Given the description of an element on the screen output the (x, y) to click on. 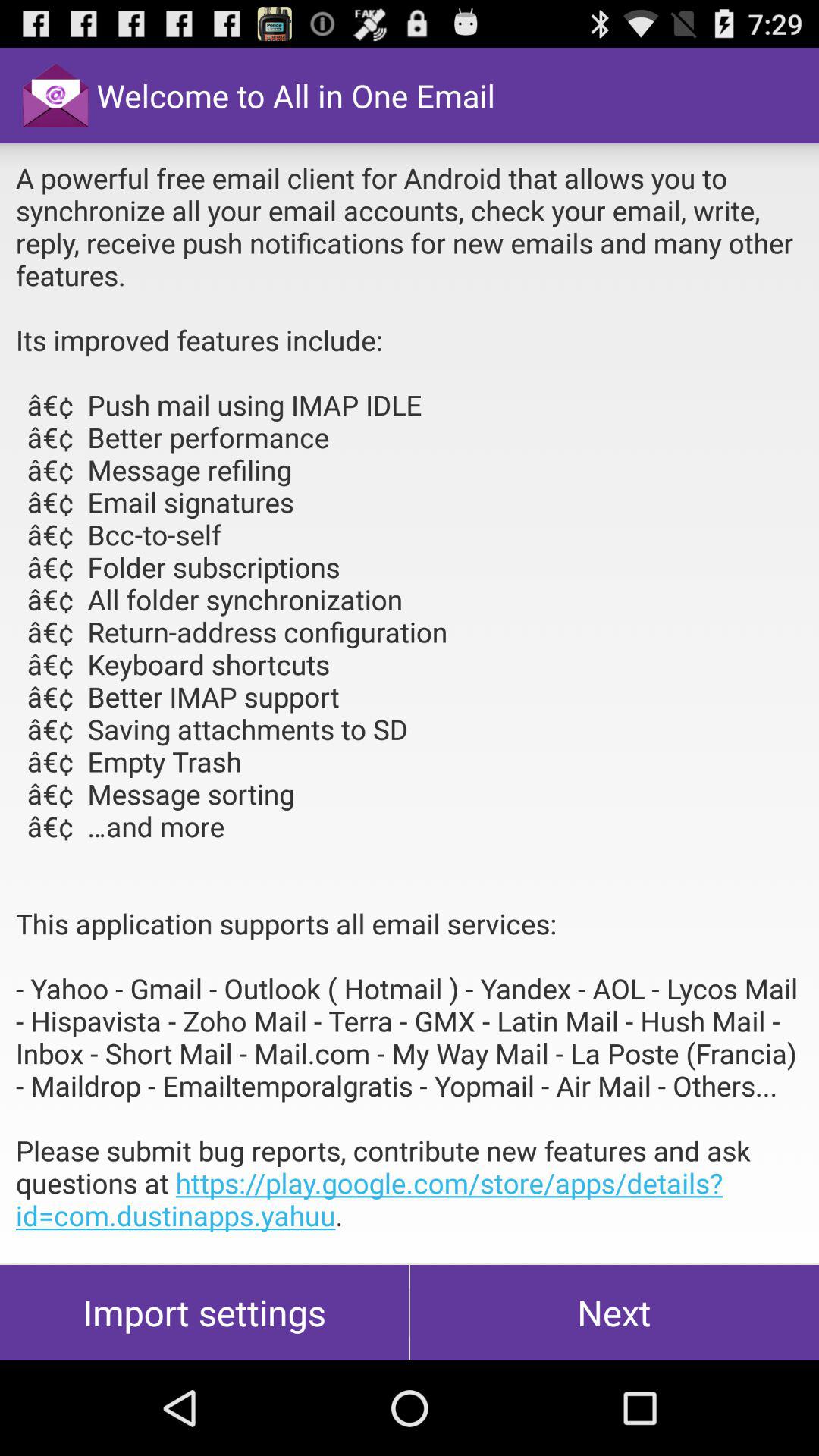
select next at the bottom right corner (614, 1312)
